Given the description of an element on the screen output the (x, y) to click on. 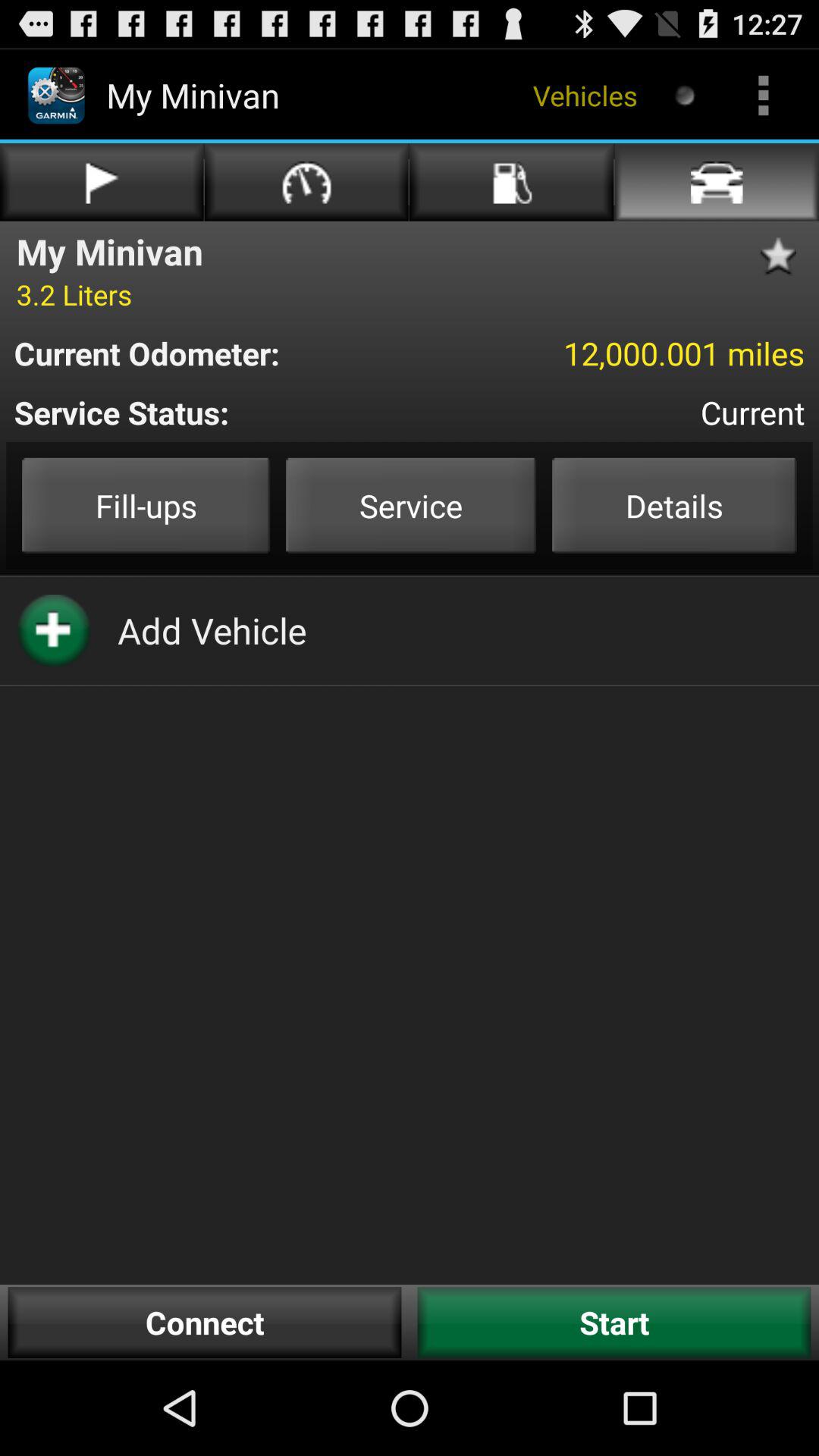
choose the fill-ups (146, 505)
